Given the description of an element on the screen output the (x, y) to click on. 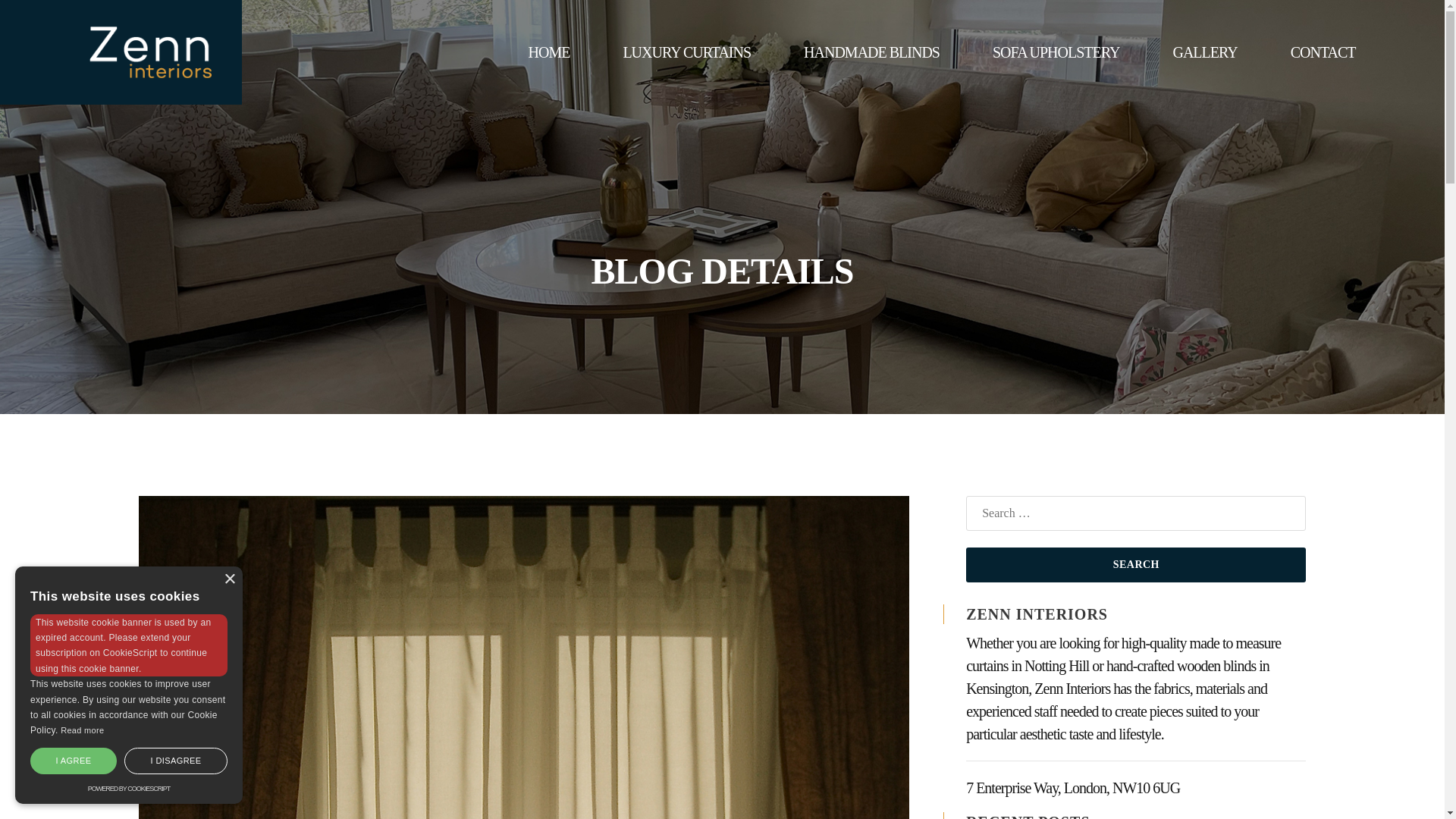
Search (1136, 564)
HOME (547, 51)
LUXURY CURTAINS (686, 51)
Consent Management Platform (128, 788)
CONTACT (1322, 51)
GALLERY (1204, 51)
Search (1136, 564)
HANDMADE BLINDS (871, 51)
Search (1136, 564)
SOFA UPHOLSTERY (1055, 51)
